Given the description of an element on the screen output the (x, y) to click on. 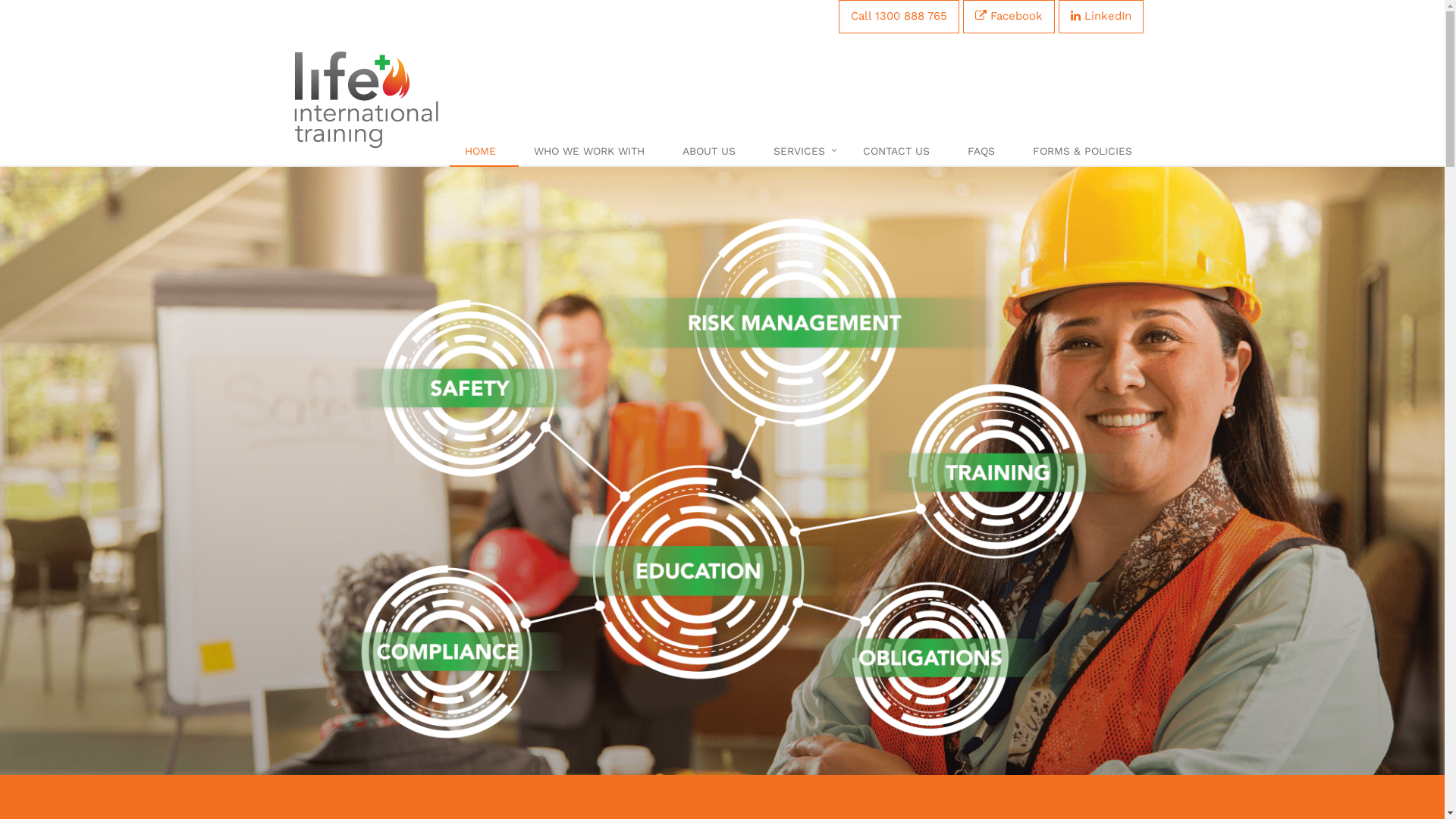
FORMS & POLICIES Element type: text (1085, 151)
HOME Element type: text (482, 151)
SERVICES Element type: text (802, 151)
Call 1300 888 765 Element type: text (898, 16)
LinkedIn Element type: text (1100, 16)
ABOUT US Element type: text (712, 151)
Facebook Element type: text (1008, 16)
CONTACT US Element type: text (899, 151)
WHO WE WORK WITH Element type: text (592, 151)
FAQS Element type: text (984, 151)
